Given the description of an element on the screen output the (x, y) to click on. 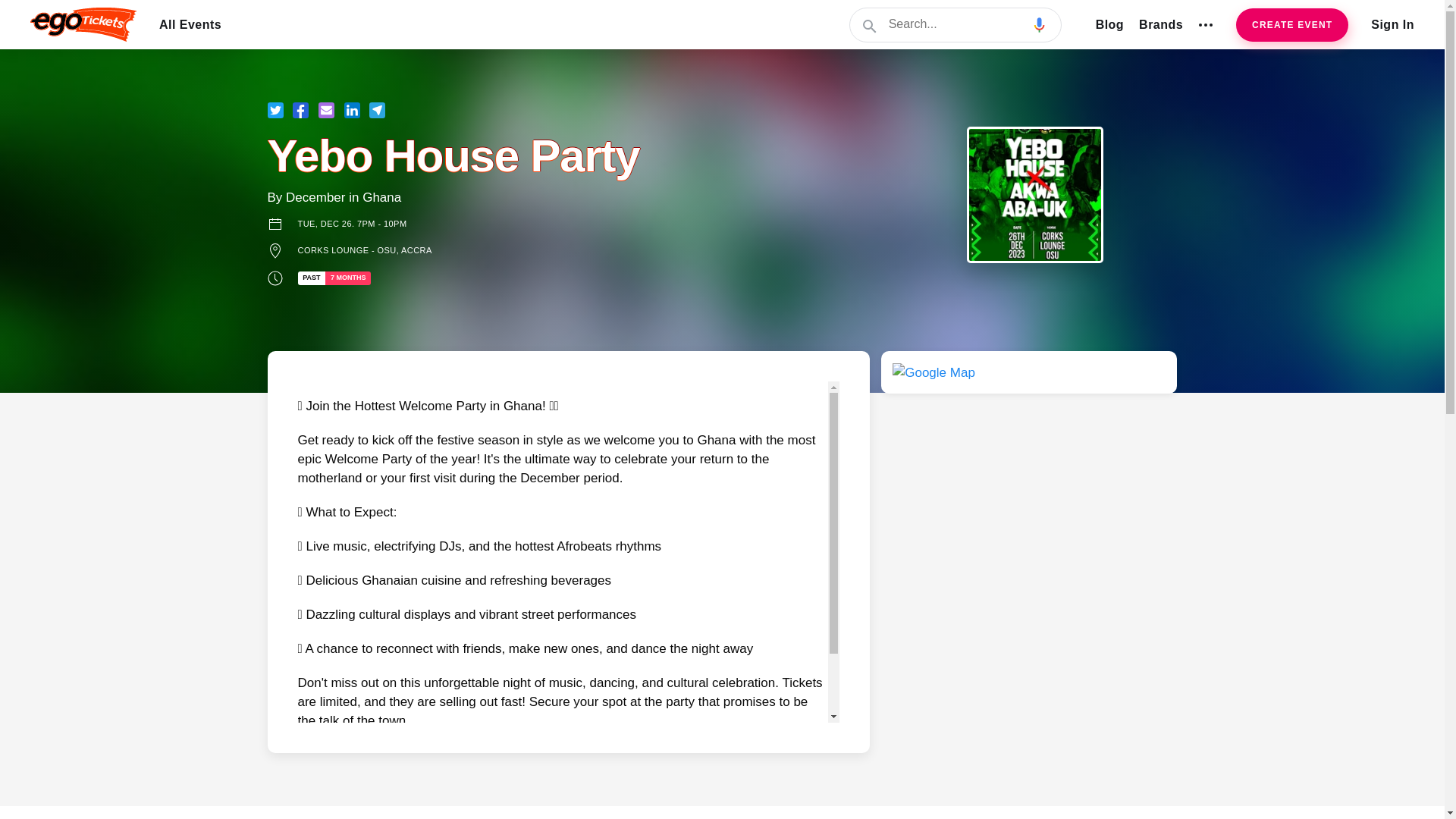
Share to Telegram (377, 109)
Share to Twitter (274, 109)
All events (189, 24)
Share to Linkedin (351, 109)
Brands (1160, 24)
CREATE EVENT (1292, 23)
Share to Facebook (300, 109)
Search (956, 23)
All Events (189, 24)
See Location on Google Maps (933, 371)
Add your event for free (1292, 23)
Share to Email (326, 109)
